Given the description of an element on the screen output the (x, y) to click on. 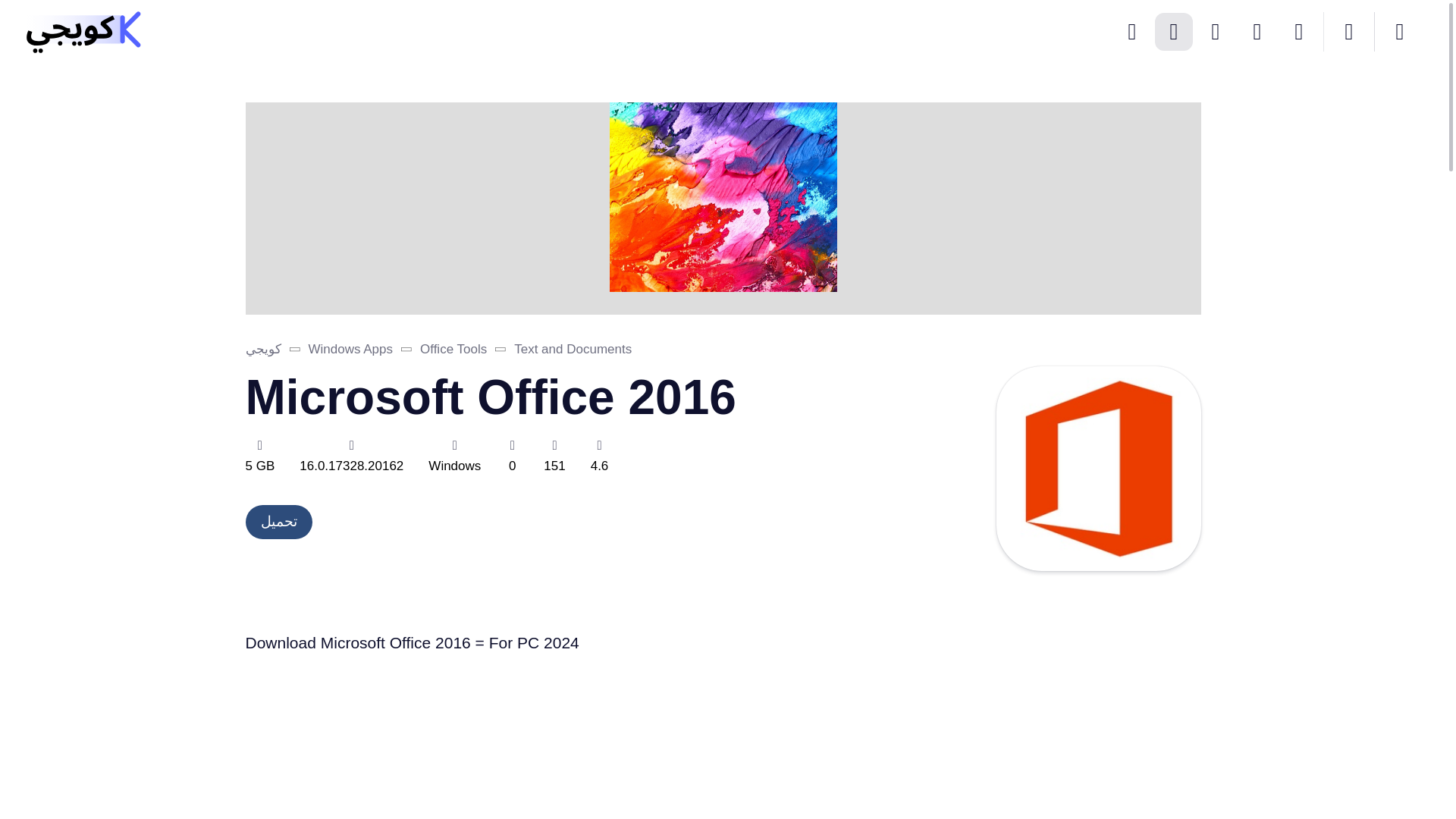
Blog (1132, 31)
Windows (1173, 31)
Office Tools (453, 349)
Iphone (1257, 31)
Android (1215, 31)
Advertisement (359, 749)
Text and Documents (572, 349)
Games (1298, 31)
Windows Apps (350, 349)
